Given the description of an element on the screen output the (x, y) to click on. 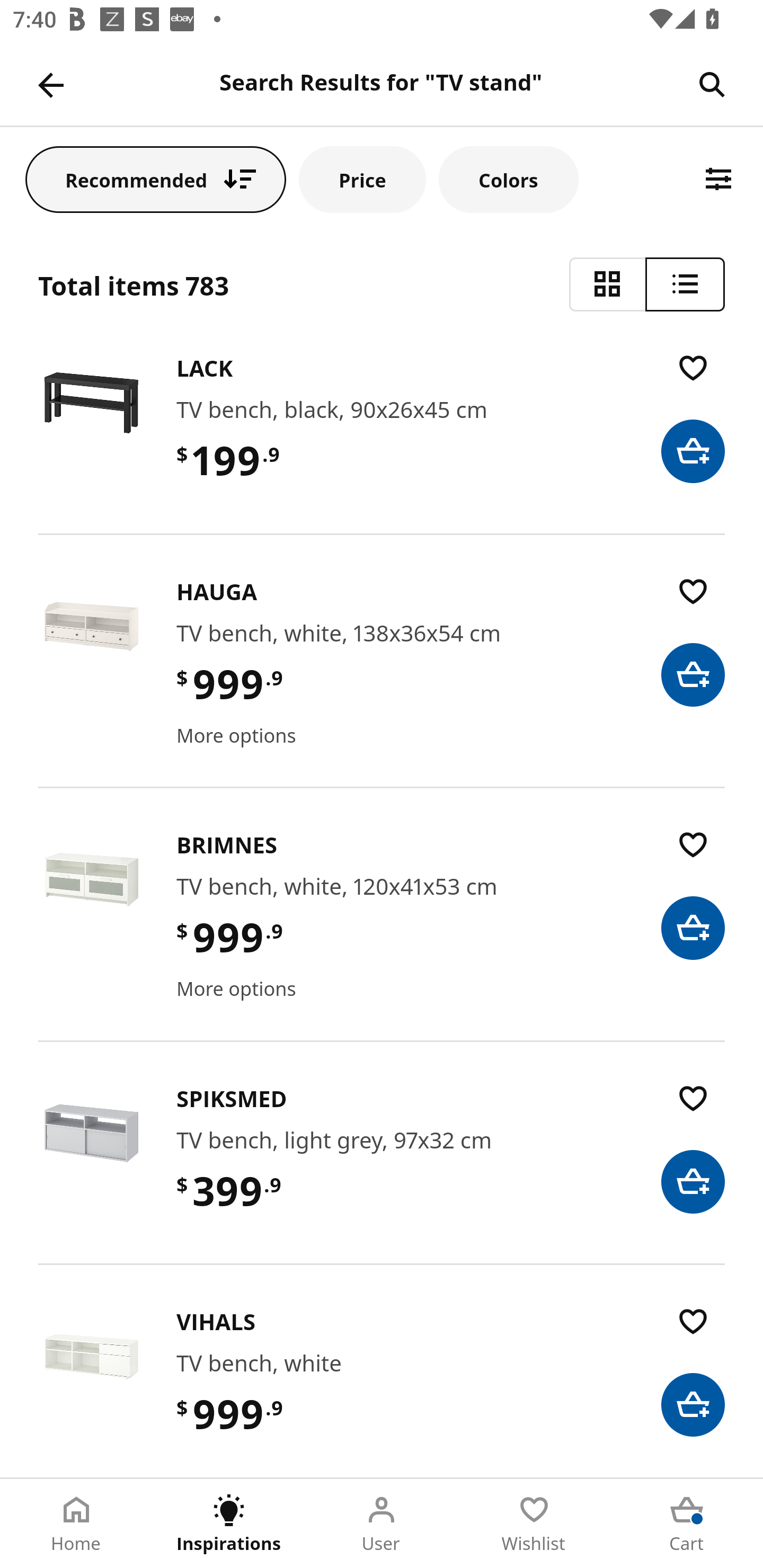
Recommended (155, 179)
Price (362, 179)
Colors (508, 179)
​L​A​C​K​
TV bench, black, 90x26x45 cm
$
199
.9 (381, 441)
​V​I​H​A​L​S​
TV bench, white
$
999
.9 (381, 1390)
Home
Tab 1 of 5 (76, 1522)
Inspirations
Tab 2 of 5 (228, 1522)
User
Tab 3 of 5 (381, 1522)
Wishlist
Tab 4 of 5 (533, 1522)
Cart
Tab 5 of 5 (686, 1522)
